Given the description of an element on the screen output the (x, y) to click on. 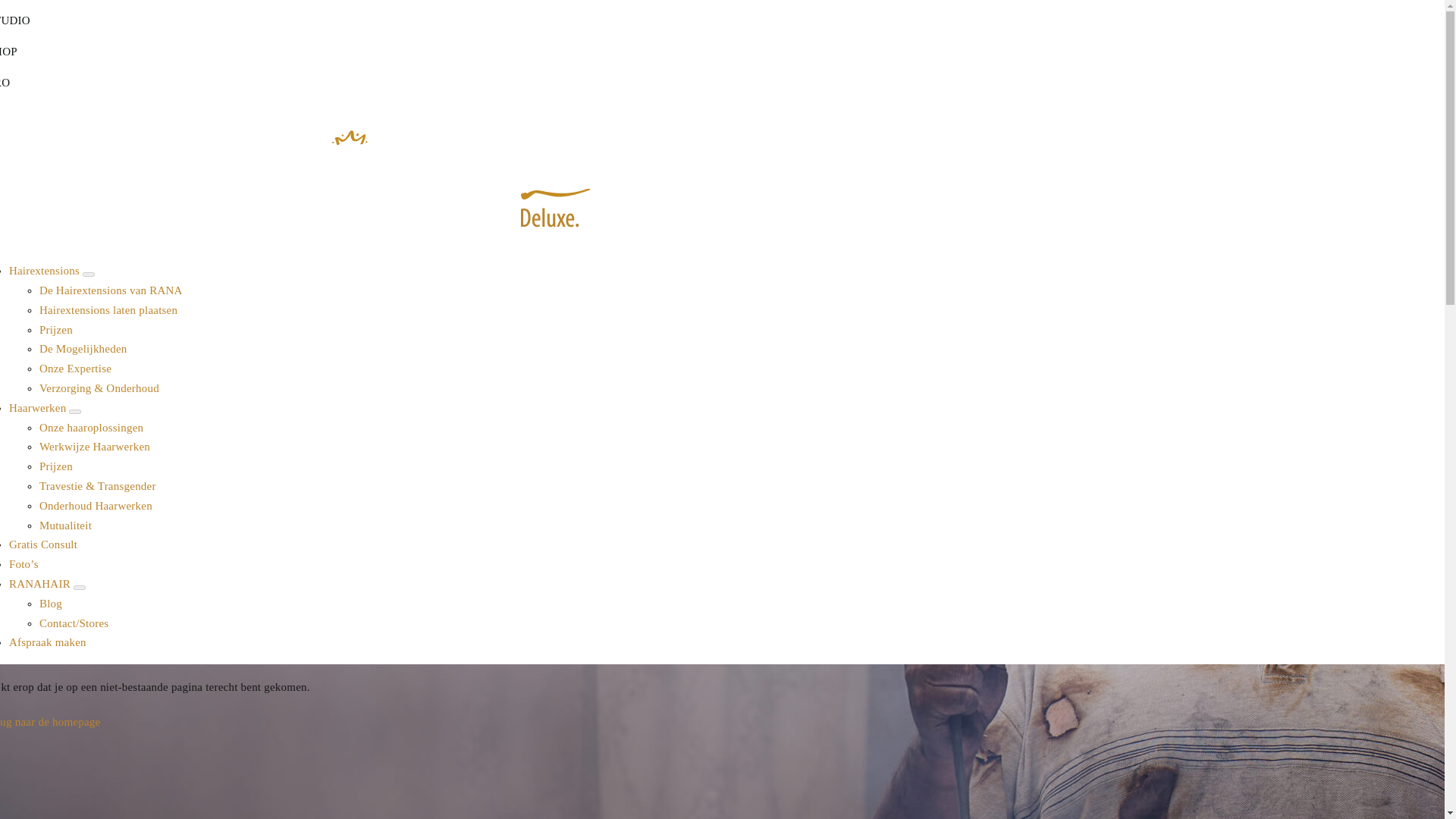
Prijzen (55, 329)
Onze Expertise (75, 368)
De Hairextensions van RANA (111, 290)
Blog (50, 603)
RANAHAIR (41, 583)
Afspraak maken (46, 642)
Onze haaroplossingen (90, 427)
Mutualiteit (65, 525)
Onderhoud Haarwerken (95, 505)
Gratis Consult (42, 544)
Haarwerken (38, 408)
De Mogelijkheden (83, 348)
Hairextensions (45, 270)
Hairextensions laten plaatsen (108, 309)
Prijzen (55, 466)
